Given the description of an element on the screen output the (x, y) to click on. 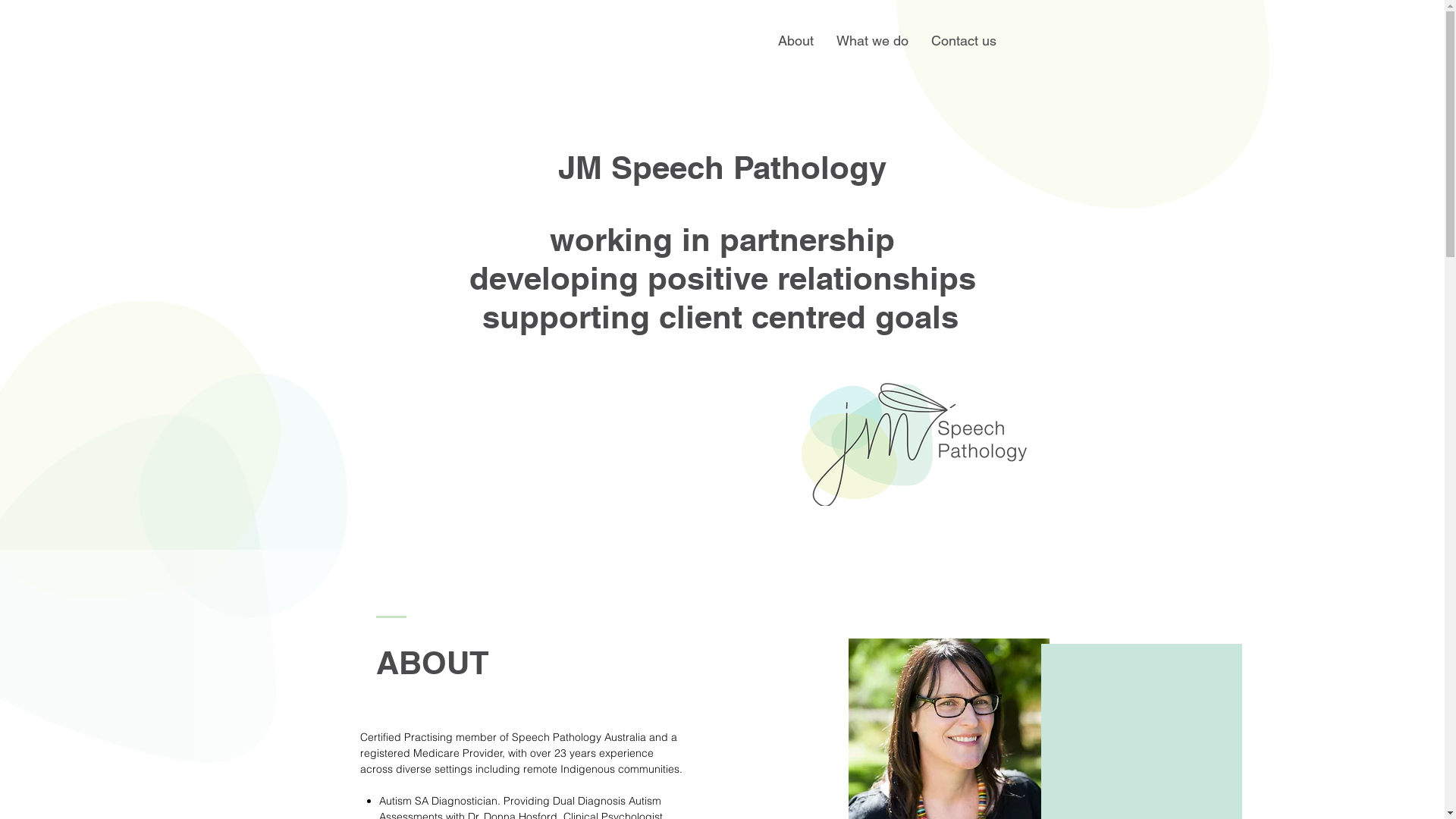
What we do Element type: text (872, 40)
About Element type: text (794, 40)
Contact us Element type: text (963, 40)
